Given the description of an element on the screen output the (x, y) to click on. 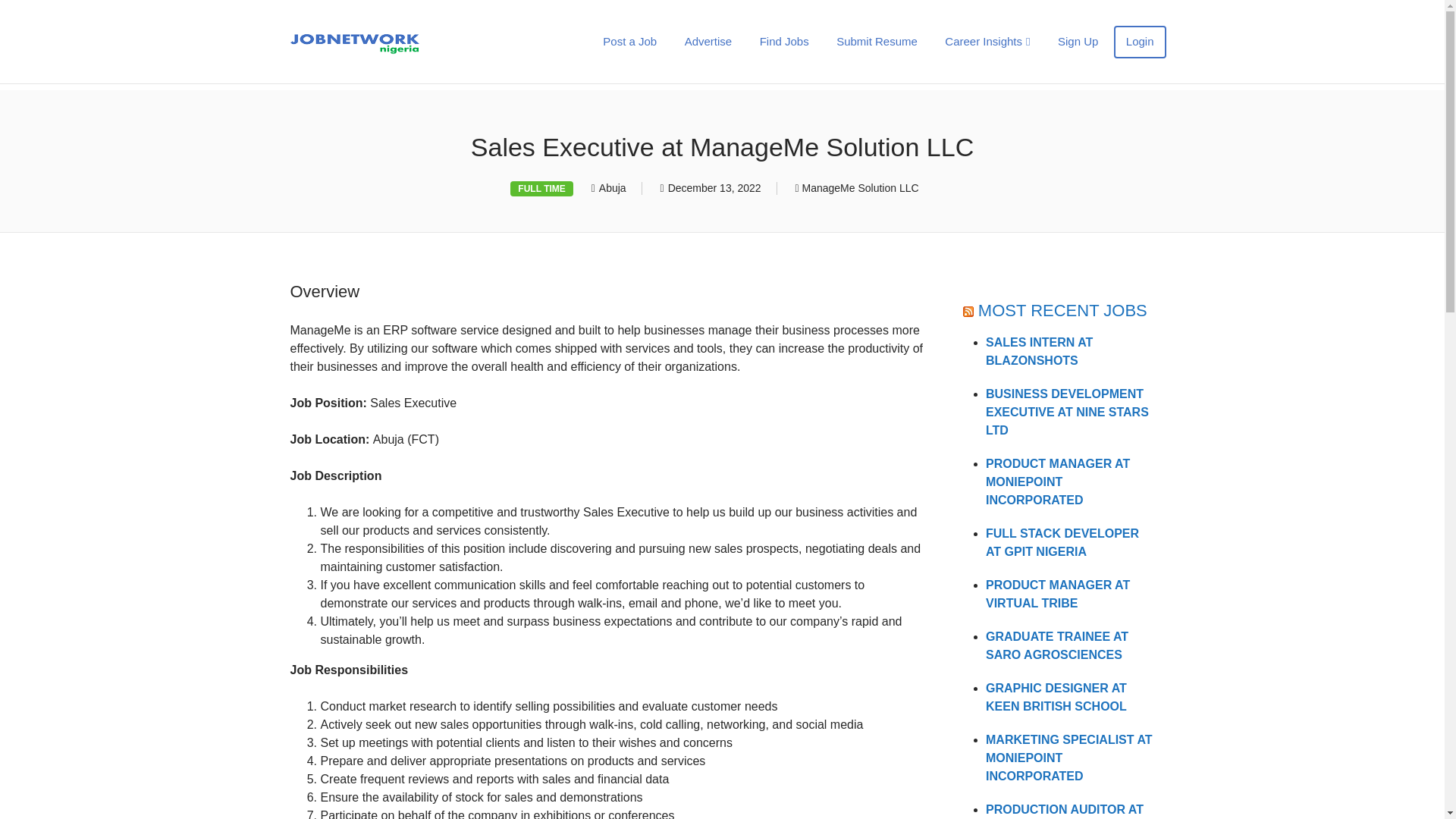
PRODUCT MANAGER AT MONIEPOINT INCORPORATED (1057, 481)
GRADUATE TRAINEE AT SARO AGROSCIENCES (1056, 644)
GRAPHIC DESIGNER AT KEEN BRITISH SCHOOL (1055, 696)
PRODUCT MANAGER AT VIRTUAL TRIBE (1057, 593)
MOST RECENT JOBS (1062, 310)
PRODUCTION AUDITOR AT GLOBAL PROFILERS (1063, 811)
Login (1139, 41)
MARKETING SPECIALIST AT MONIEPOINT INCORPORATED (1069, 757)
Post a Job (629, 41)
BUSINESS DEVELOPMENT EXECUTIVE AT NINE STARS LTD (1066, 411)
ManageMe Solution LLC (860, 187)
Sign Up (1077, 41)
FULL STACK DEVELOPER AT GPIT NIGERIA (1061, 542)
Career Insights (987, 41)
Submit Resume (877, 41)
